Given the description of an element on the screen output the (x, y) to click on. 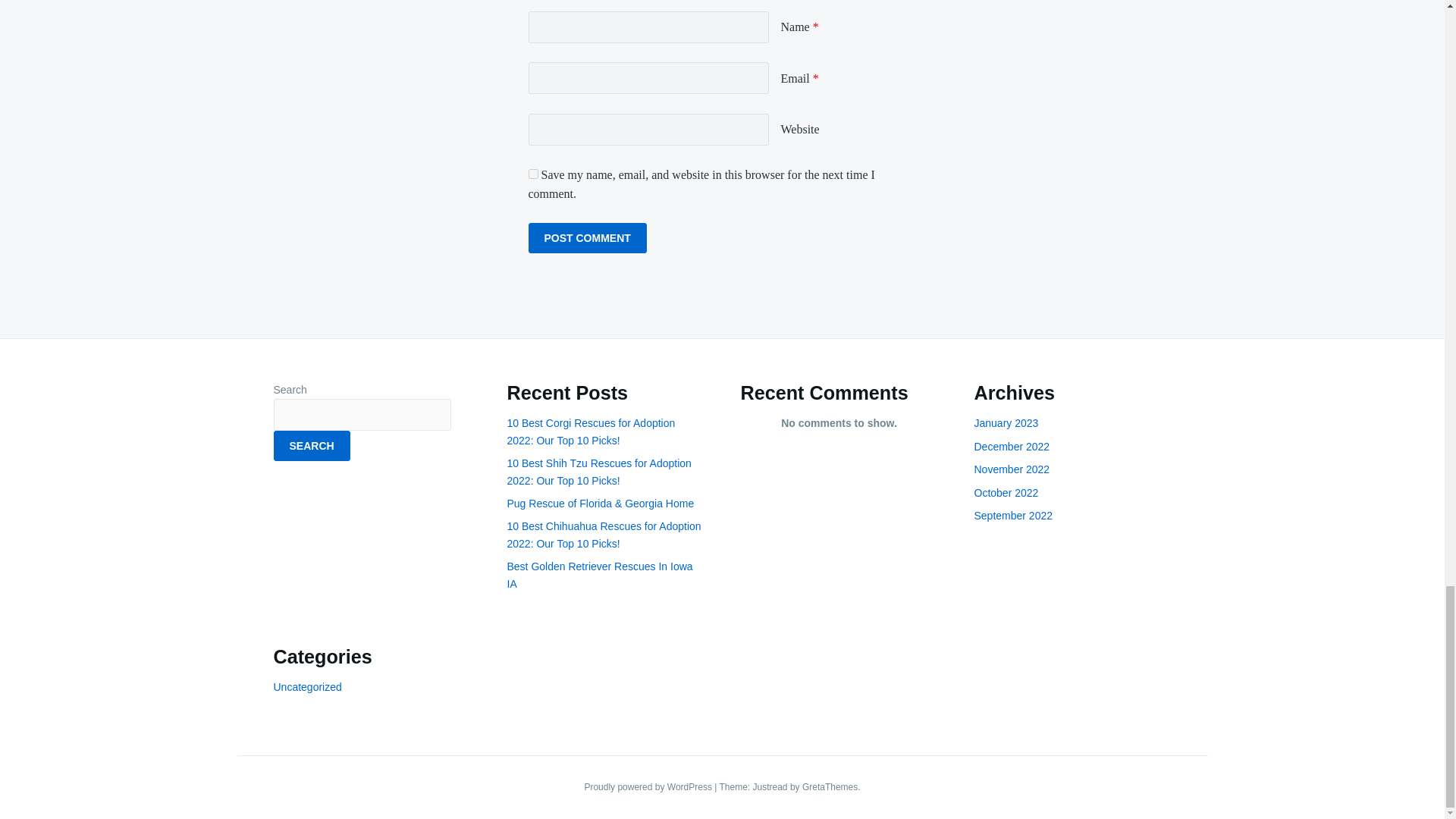
December 2022 (1011, 446)
SEARCH (311, 445)
Post Comment (586, 237)
September 2022 (1013, 515)
Uncategorized (306, 686)
10 Best Corgi Rescues for Adoption 2022: Our Top 10 Picks! (590, 430)
October 2022 (1006, 492)
Proudly powered by WordPress (648, 787)
January 2023 (1006, 422)
